Given the description of an element on the screen output the (x, y) to click on. 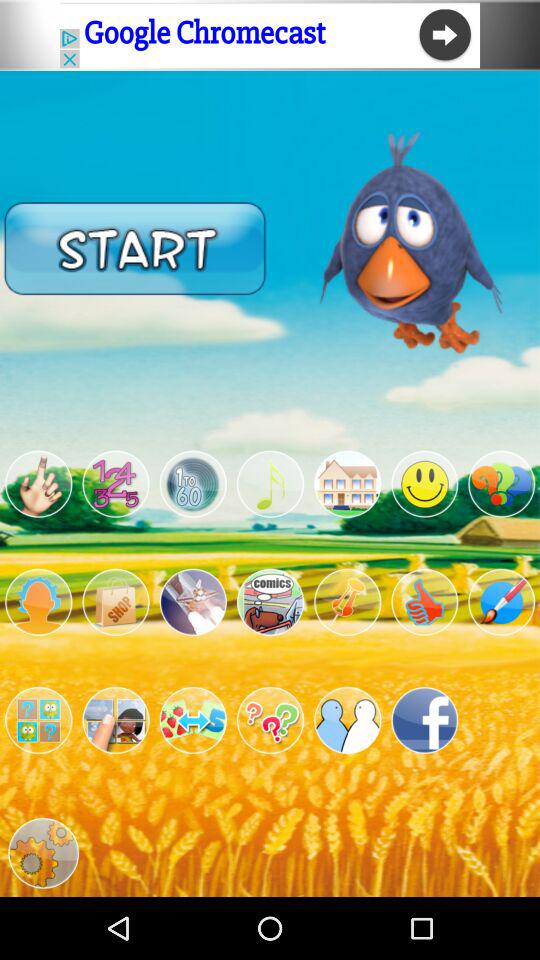
questions (270, 720)
